Given the description of an element on the screen output the (x, y) to click on. 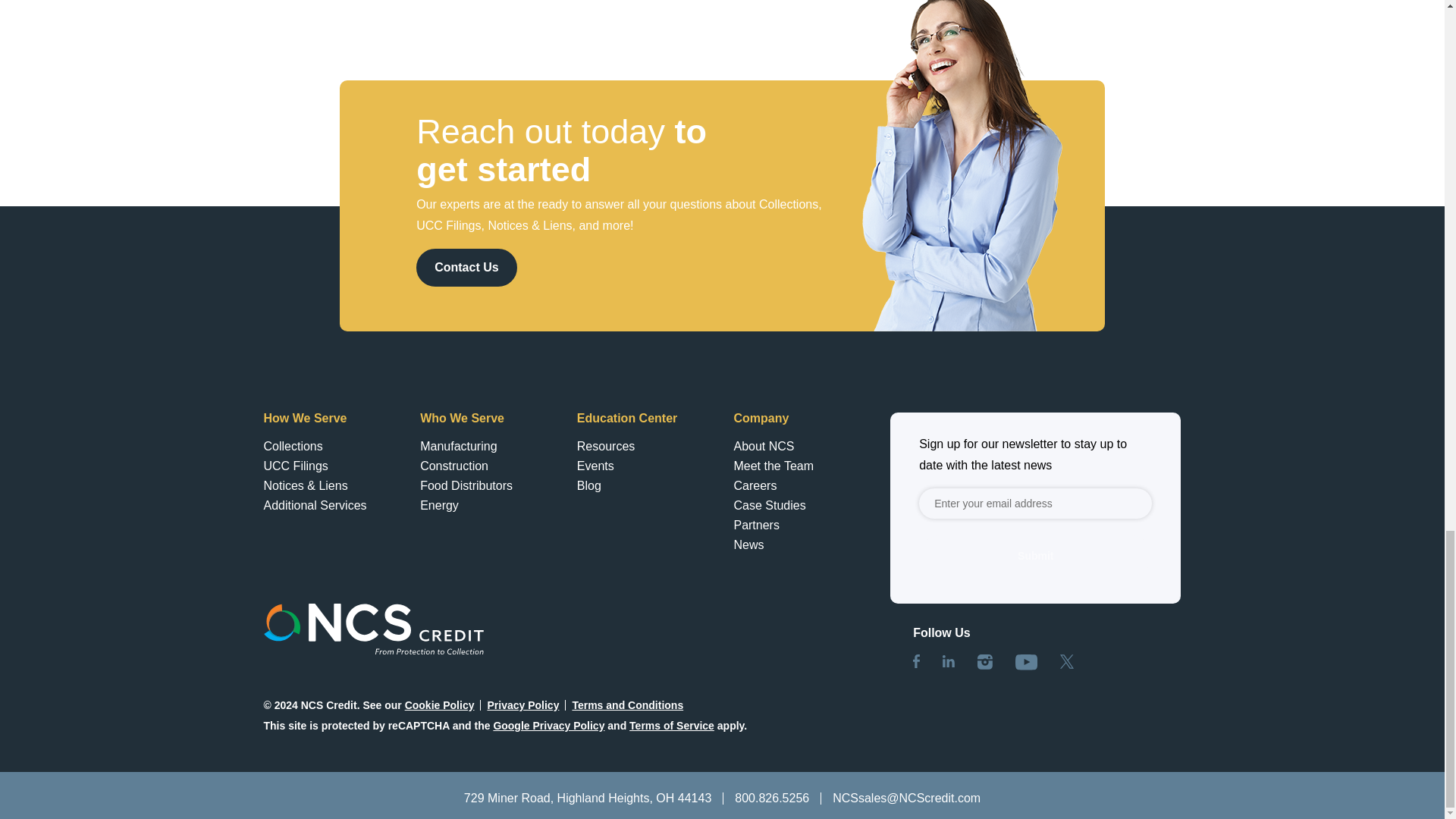
Submit (1034, 555)
